Given the description of an element on the screen output the (x, y) to click on. 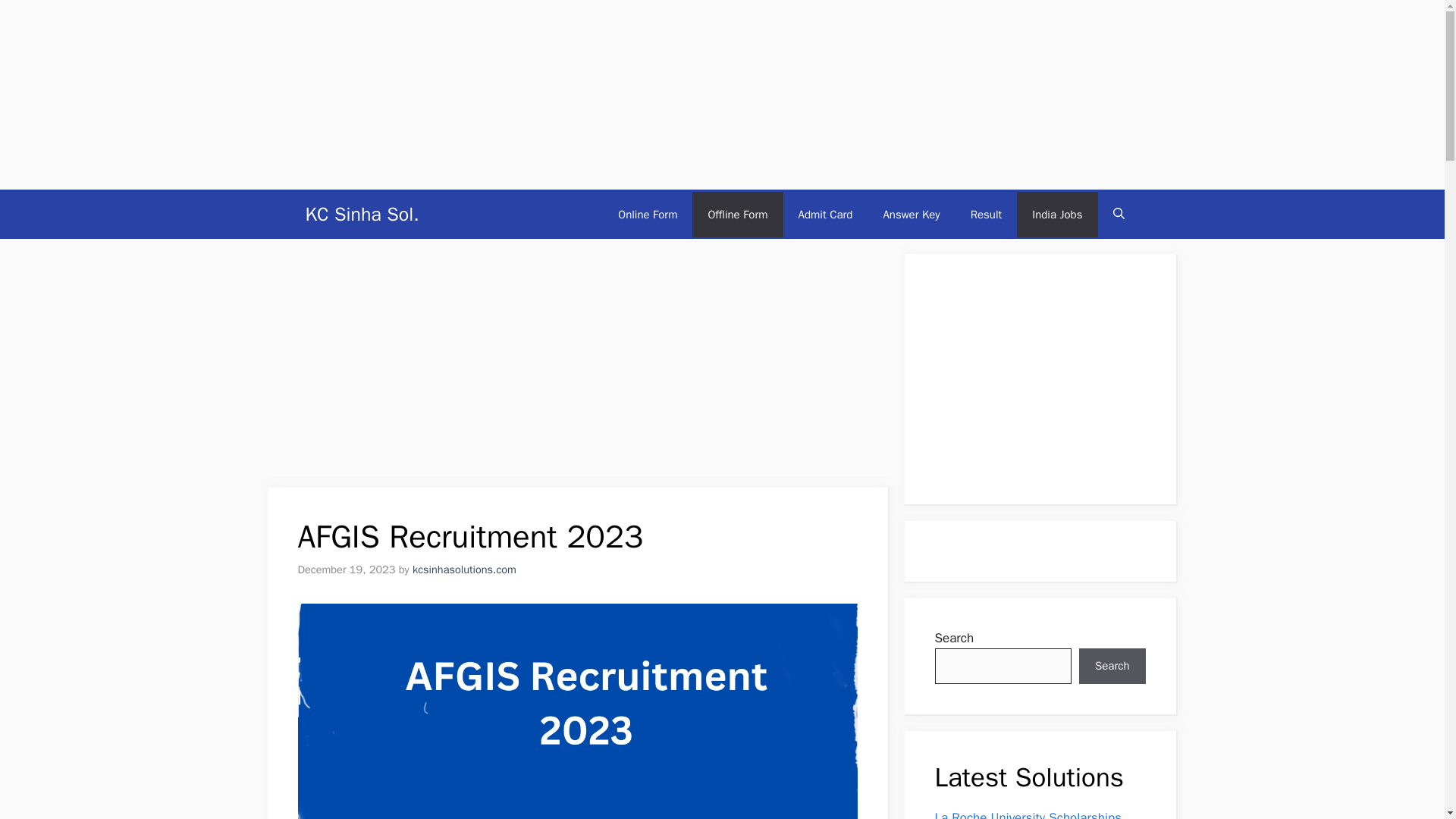
Admit Card (825, 213)
Answer Key (911, 213)
India Jobs (1056, 213)
View all posts by kcsinhasolutions.com (464, 569)
Result (986, 213)
Search (1111, 665)
kcsinhasolutions.com (464, 569)
Online Form (647, 213)
Offline Form (738, 213)
KC Sinha Sol. (361, 214)
